Given the description of an element on the screen output the (x, y) to click on. 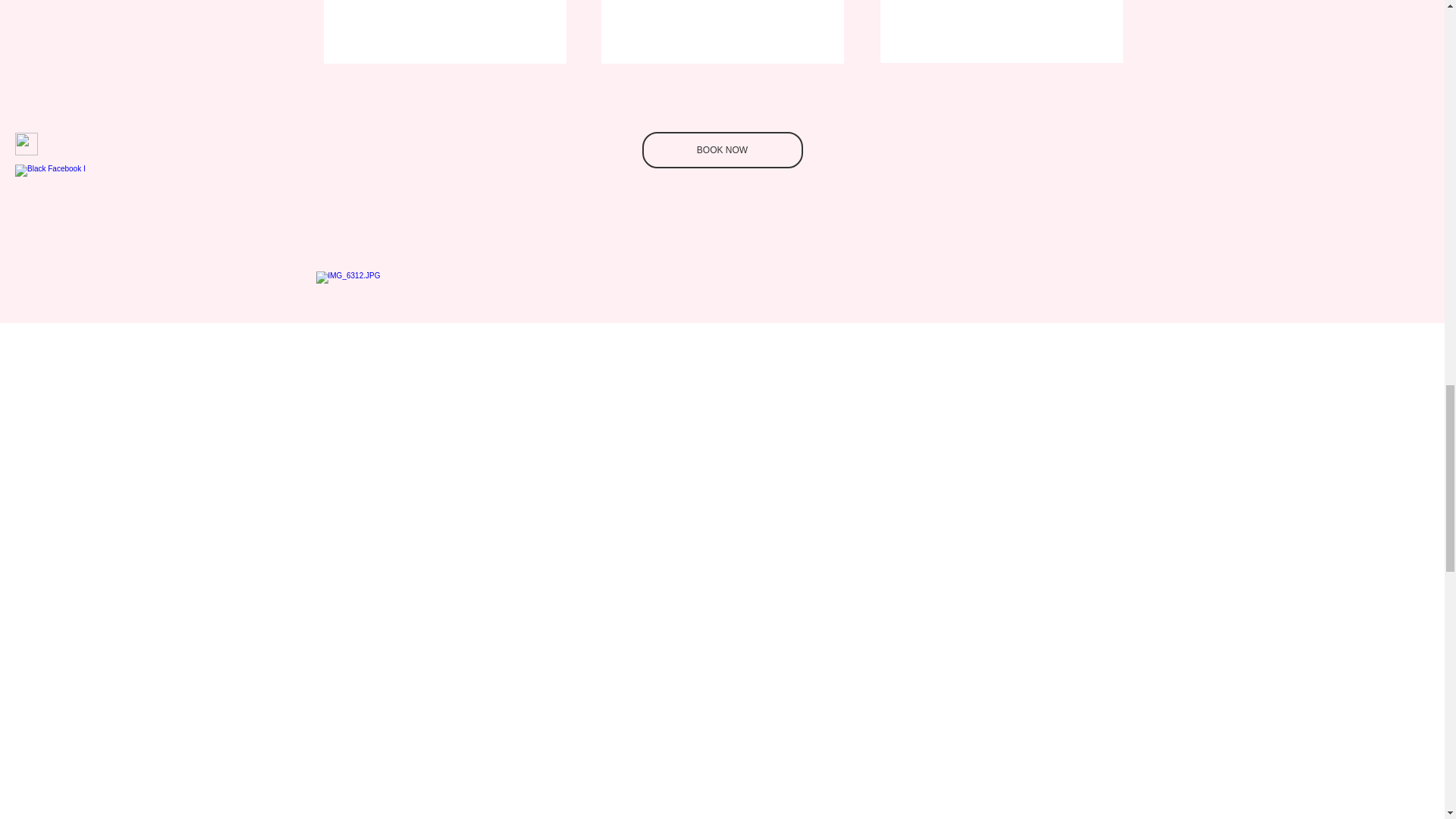
BOOK NOW (722, 149)
